Given the description of an element on the screen output the (x, y) to click on. 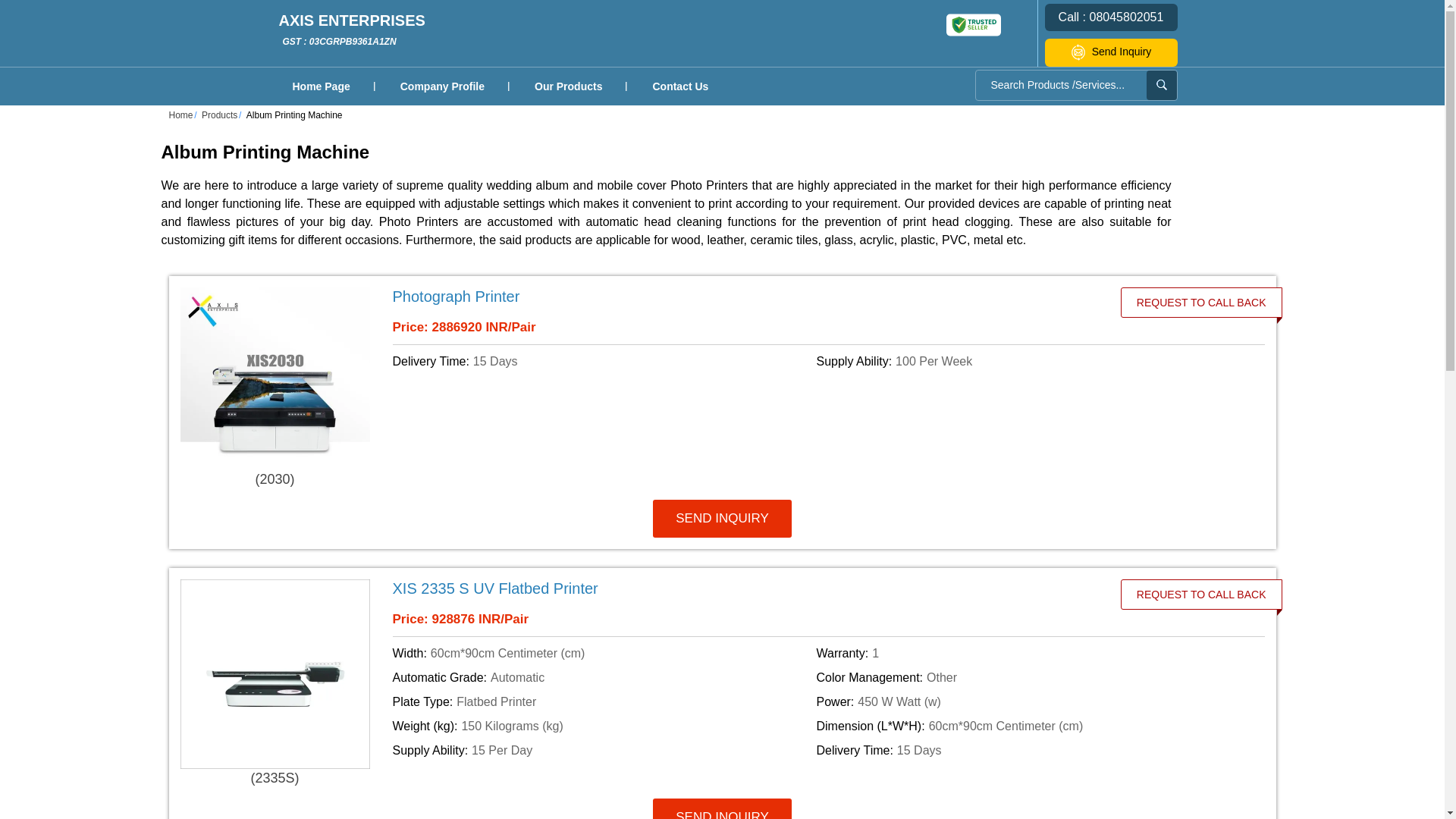
Plate Type: Flatbed Printer (601, 701)
Color Management: Other (1024, 678)
Delivery Time: 15 Days (601, 361)
Delivery Time: 15 Days (352, 29)
Automatic Grade: Automatic (1024, 751)
Supply Ability: 100 Per Week (601, 678)
Supply Ability: 15 Per Day (1024, 361)
Our Products (601, 751)
Warranty: 1 (568, 86)
